Given the description of an element on the screen output the (x, y) to click on. 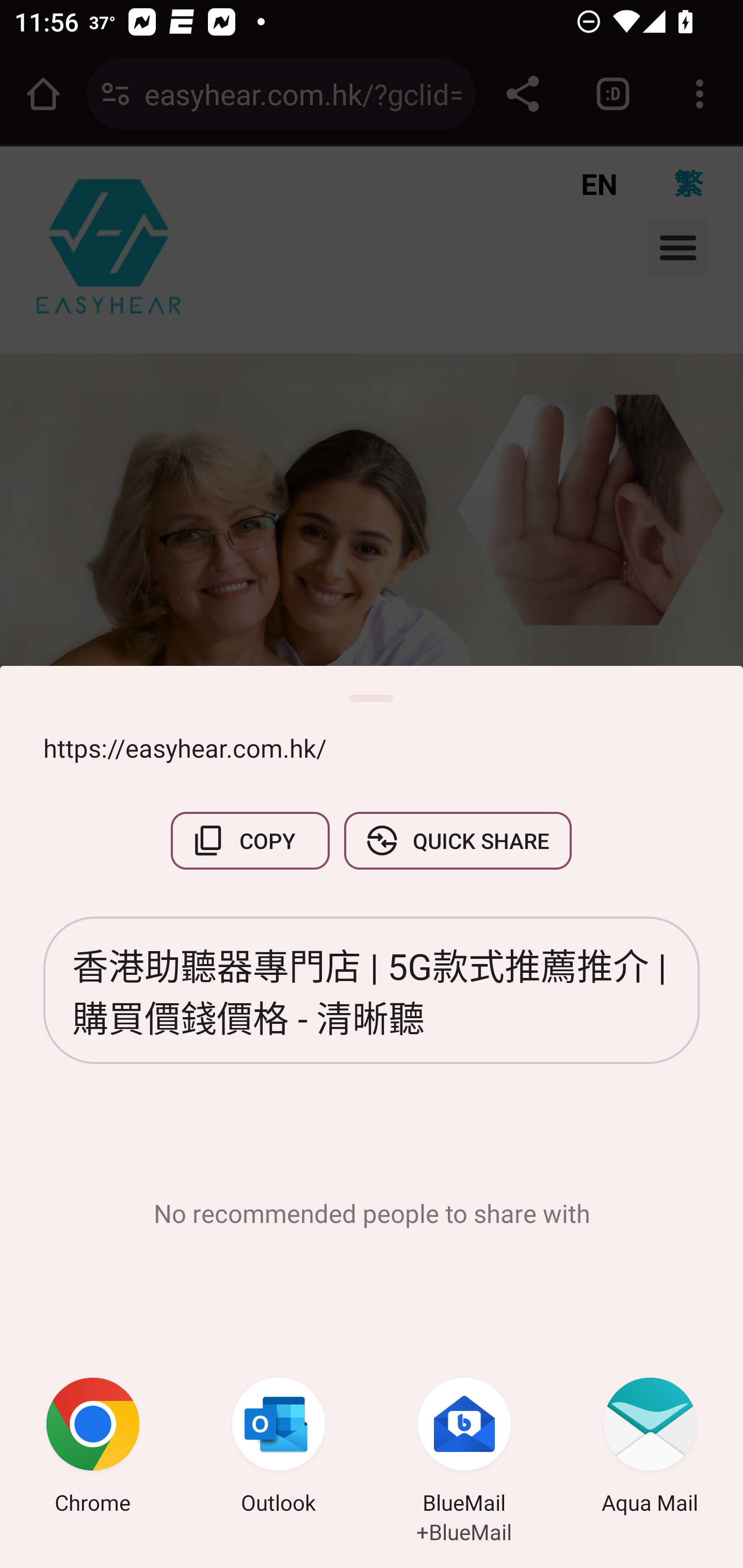
COPY (249, 841)
QUICK SHARE (457, 841)
Chrome (92, 1448)
Outlook (278, 1448)
BlueMail +BlueMail (464, 1448)
Aqua Mail (650, 1448)
